Given the description of an element on the screen output the (x, y) to click on. 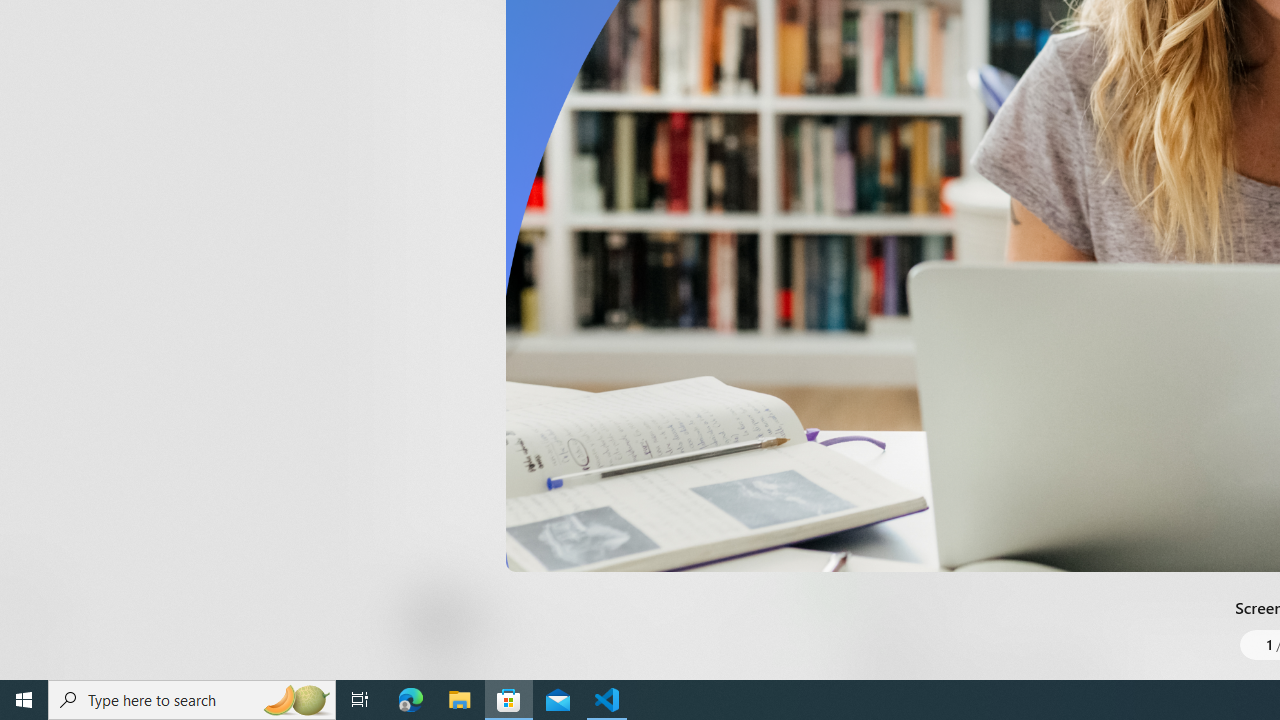
Show more (854, 31)
What's New (35, 578)
Age rating: TEEN. Click for more information. (488, 619)
Show all ratings and reviews (838, 454)
Share (746, 632)
Library (35, 640)
Social (579, 23)
